Given the description of an element on the screen output the (x, y) to click on. 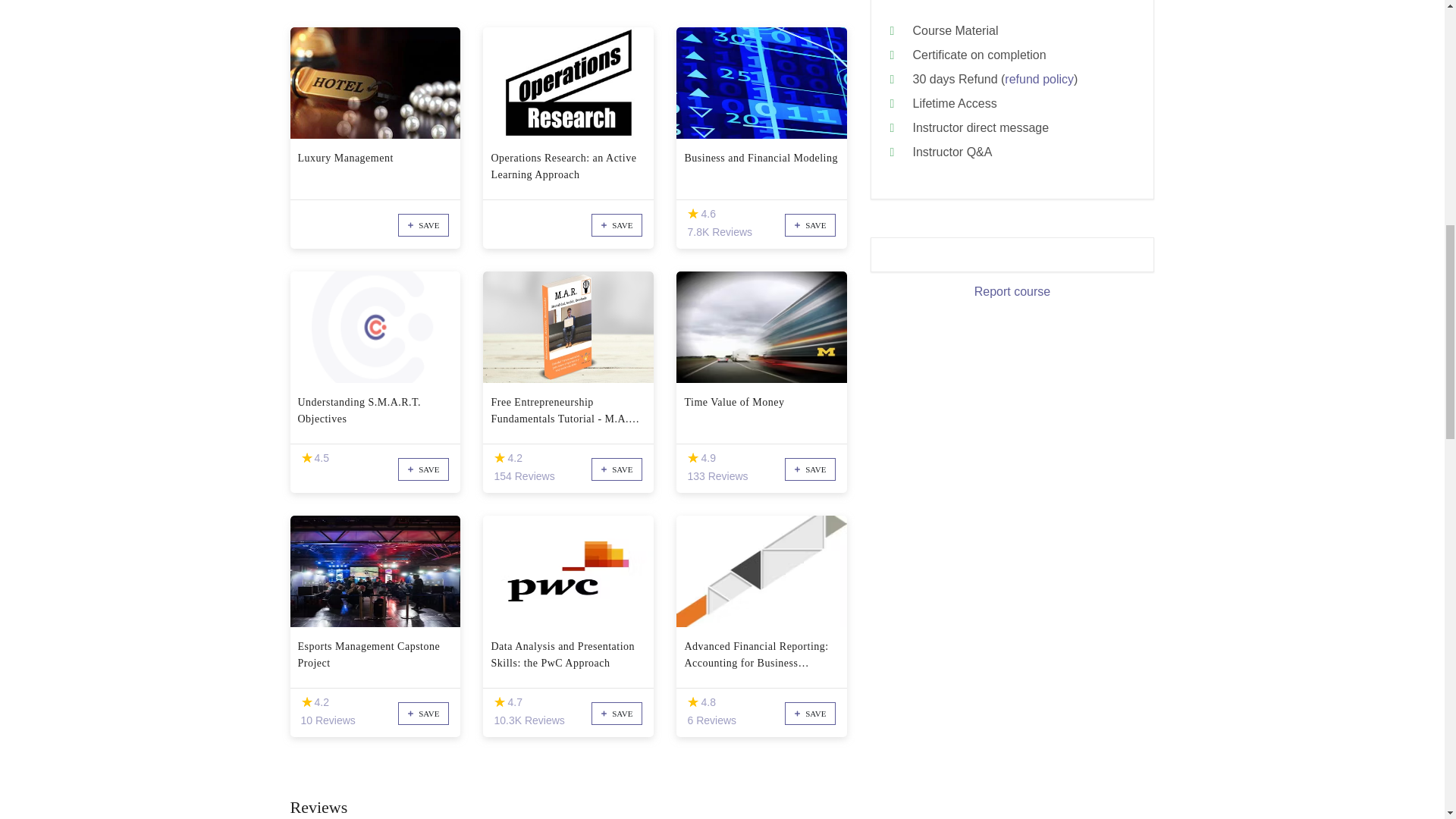
4.2 (306, 702)
4.7 (499, 702)
4.2 (499, 458)
4.6 (692, 214)
4.8 (692, 702)
4.5 (306, 458)
4.9 (692, 458)
